Given the description of an element on the screen output the (x, y) to click on. 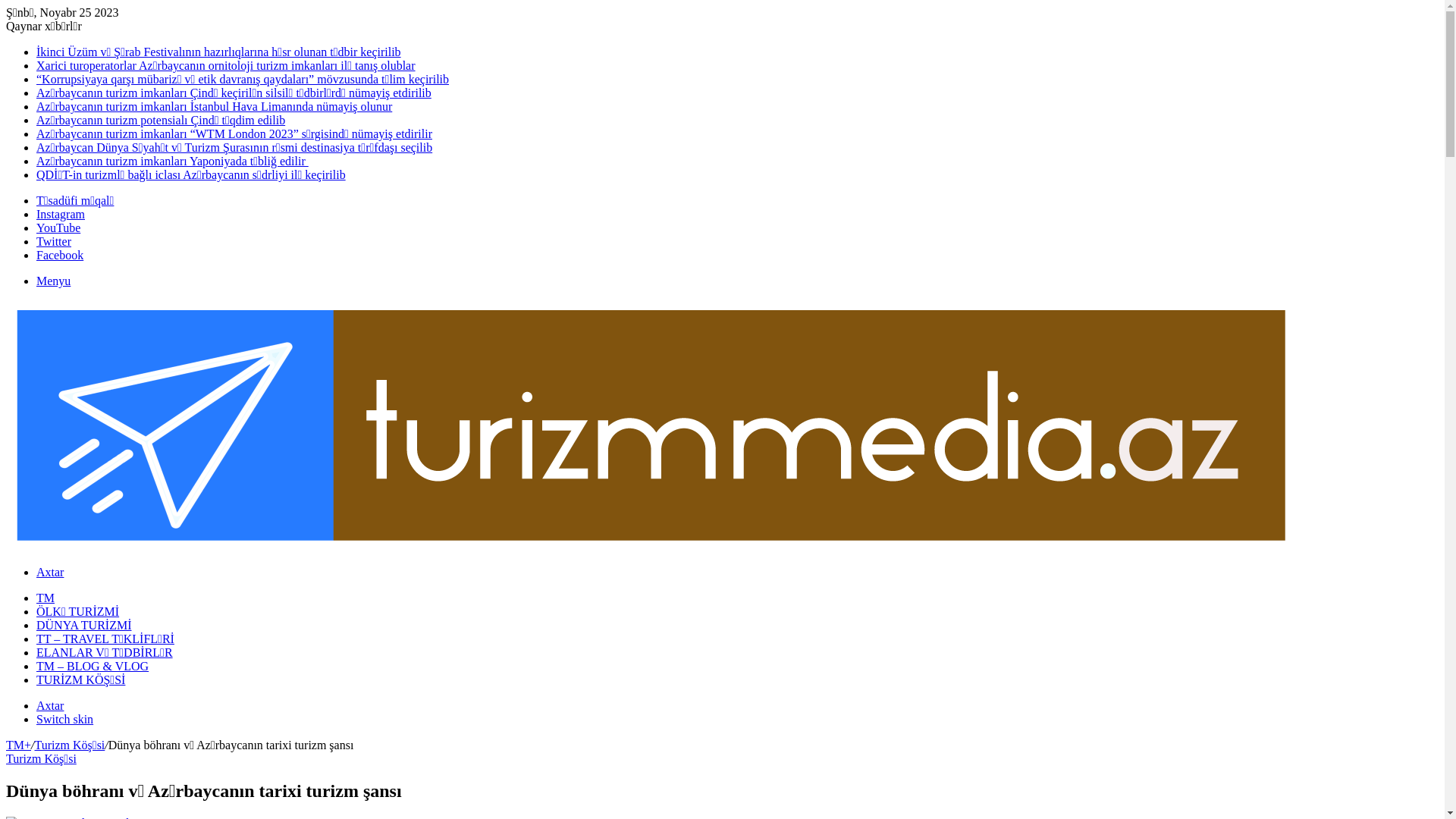
Menyu Element type: text (53, 280)
Twitter Element type: text (53, 241)
Switch skin Element type: text (64, 718)
Axtar Element type: text (49, 705)
Instagram Element type: text (60, 213)
YouTube Element type: text (58, 227)
Turizm Media Element type: hover (650, 545)
Axtar Element type: text (49, 571)
TM+ Element type: text (18, 744)
Facebook Element type: text (59, 254)
TM Element type: text (45, 597)
